Given the description of an element on the screen output the (x, y) to click on. 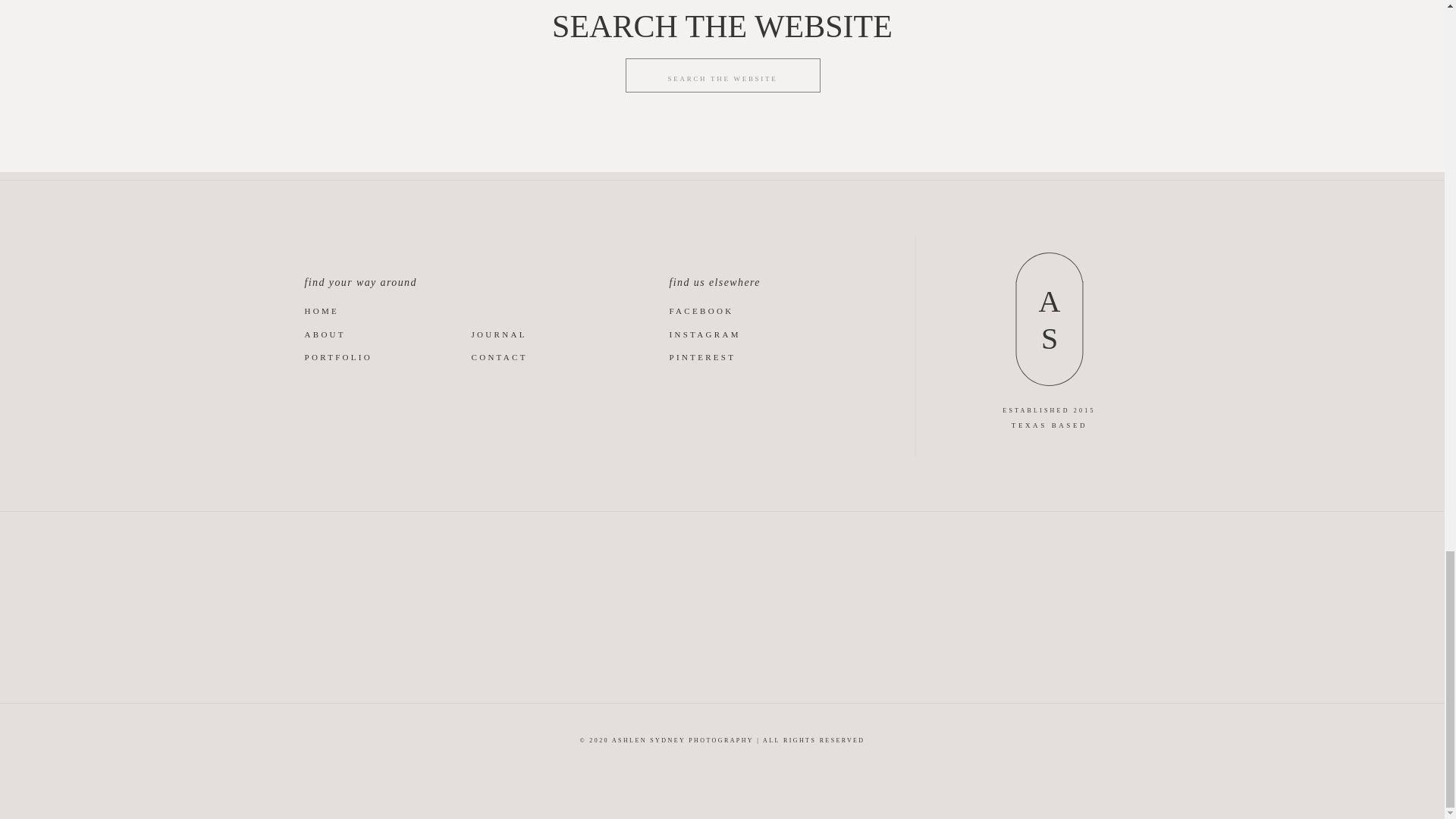
HOME (331, 309)
CONTACT (509, 356)
PORTFOLIO (342, 356)
ABOUT (331, 333)
FACEBOOK (732, 309)
JOURNAL (515, 333)
INSTAGRAM (722, 333)
PINTEREST (706, 356)
